Given the description of an element on the screen output the (x, y) to click on. 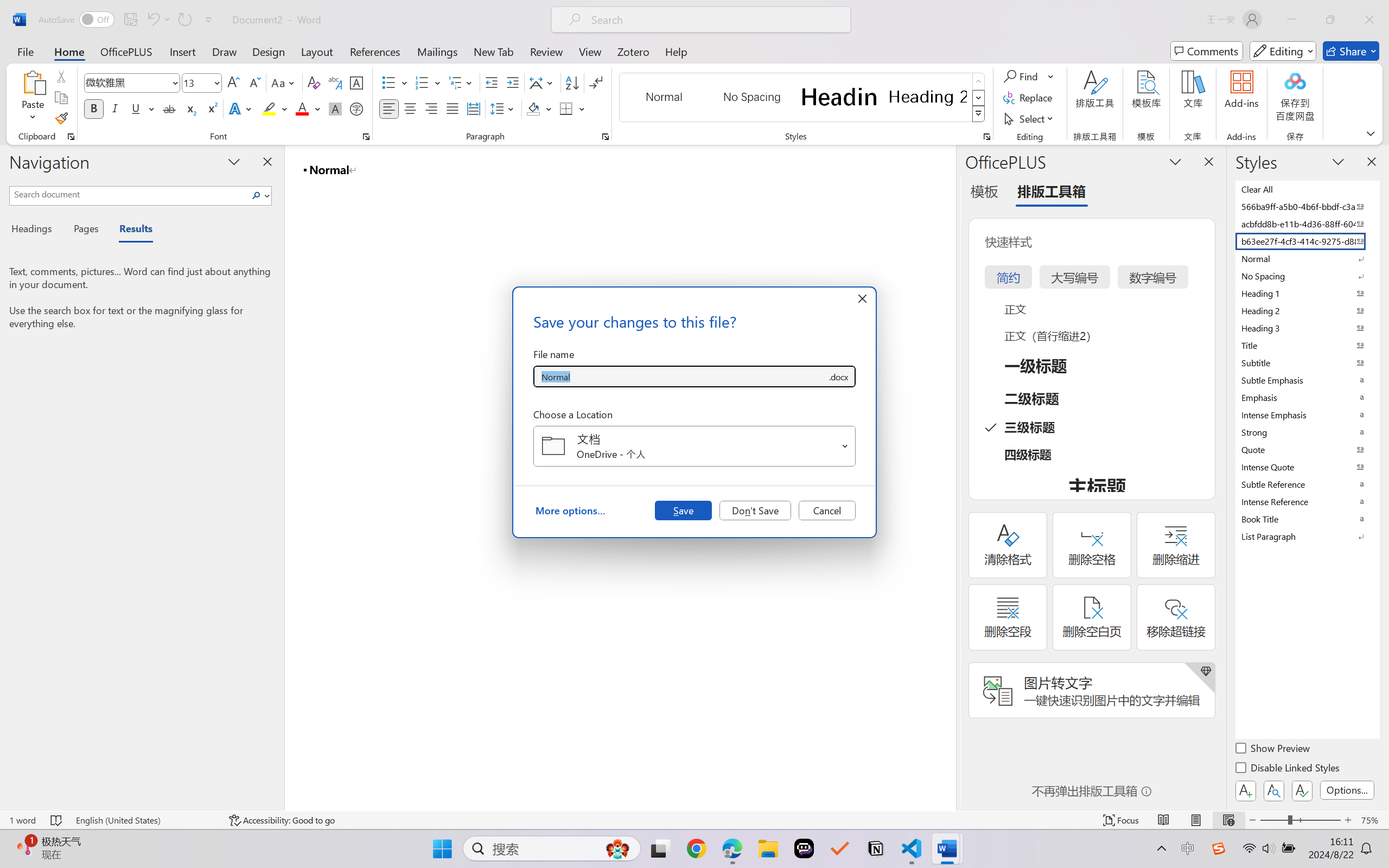
Heading 2 (927, 96)
Enclose Characters... (356, 108)
Distributed (473, 108)
Mailings (437, 51)
Mode (1283, 50)
Pages (85, 229)
